Given the description of an element on the screen output the (x, y) to click on. 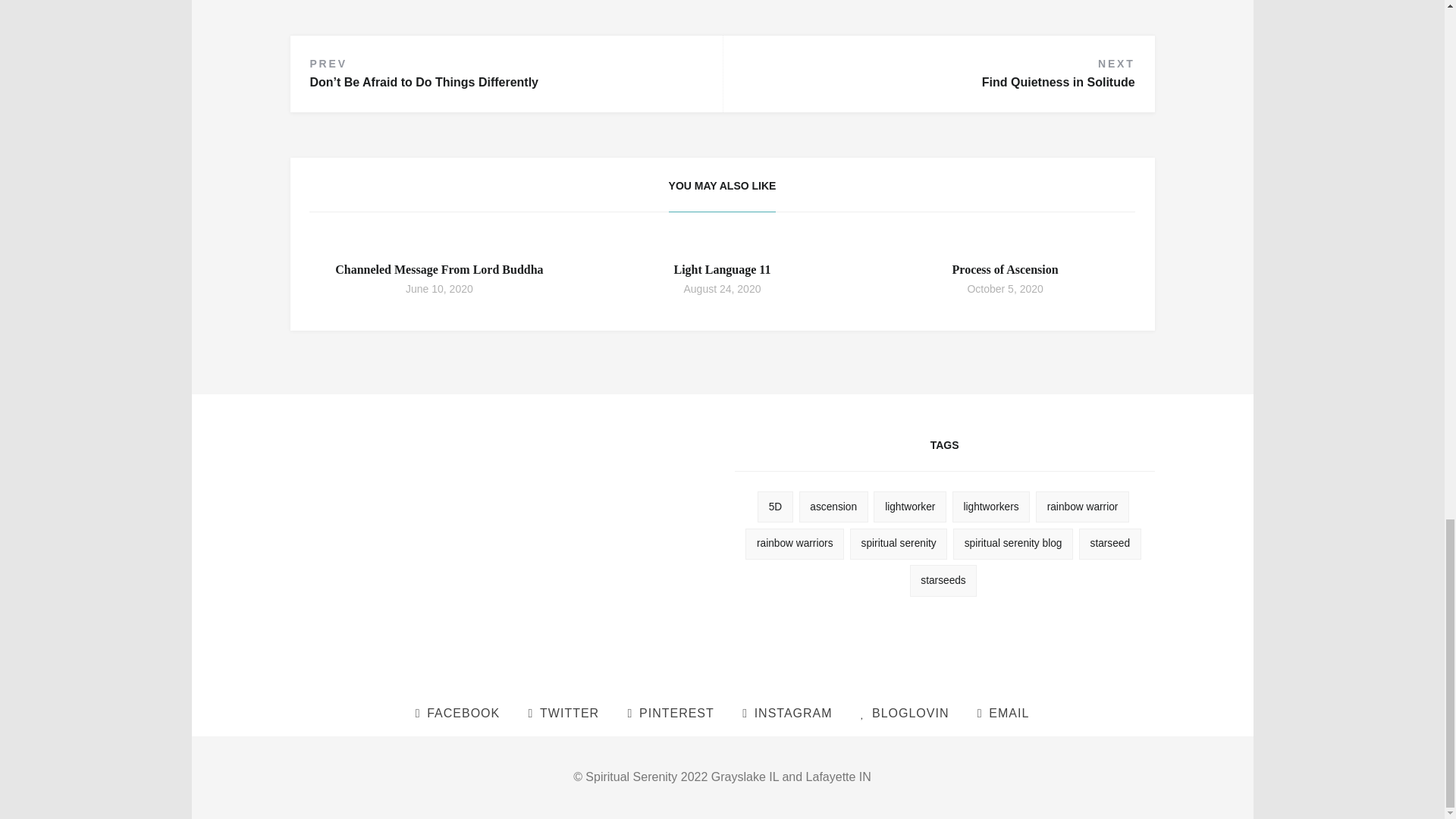
Channeled Message From Lord Buddha (438, 269)
Light Language 11 (721, 269)
Process of Ascension (1005, 269)
